Given the description of an element on the screen output the (x, y) to click on. 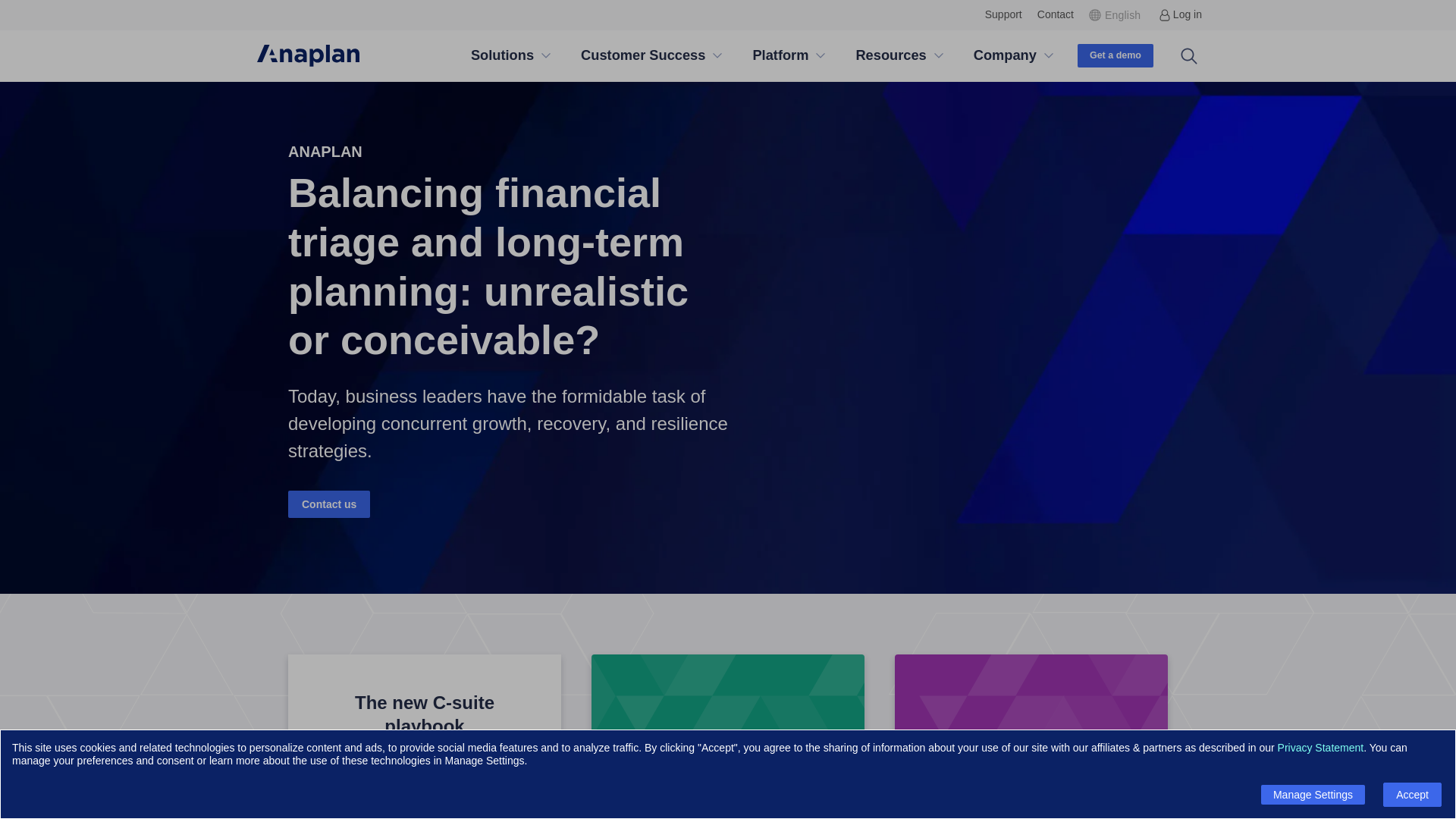
Company (1005, 55)
Get a demo (1115, 55)
Support (1003, 14)
Platform (779, 55)
Solutions (502, 55)
Contact (1055, 14)
English (1115, 14)
Resources (889, 55)
Customer Success (643, 55)
Log in (1180, 14)
